Given the description of an element on the screen output the (x, y) to click on. 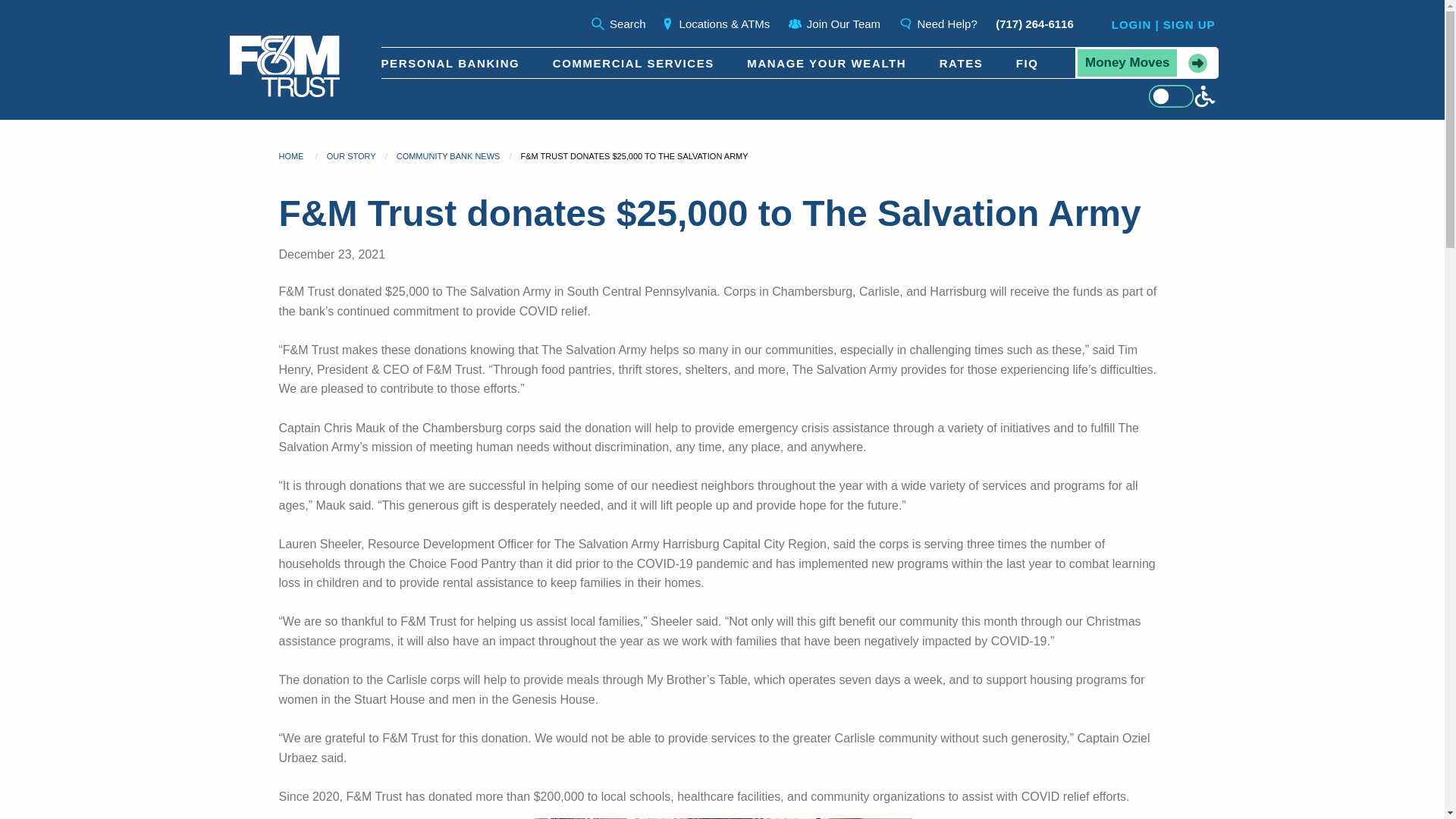
OUR STORY (350, 155)
Need Help? (937, 23)
Sign up for Online Banking (1189, 24)
LOGIN (1131, 24)
Search (618, 23)
RATES (961, 62)
COMMERCIAL SERVICES (633, 62)
MANAGE YOUR WEALTH (825, 62)
HOME (291, 155)
SIGN UP (1189, 24)
